Given the description of an element on the screen output the (x, y) to click on. 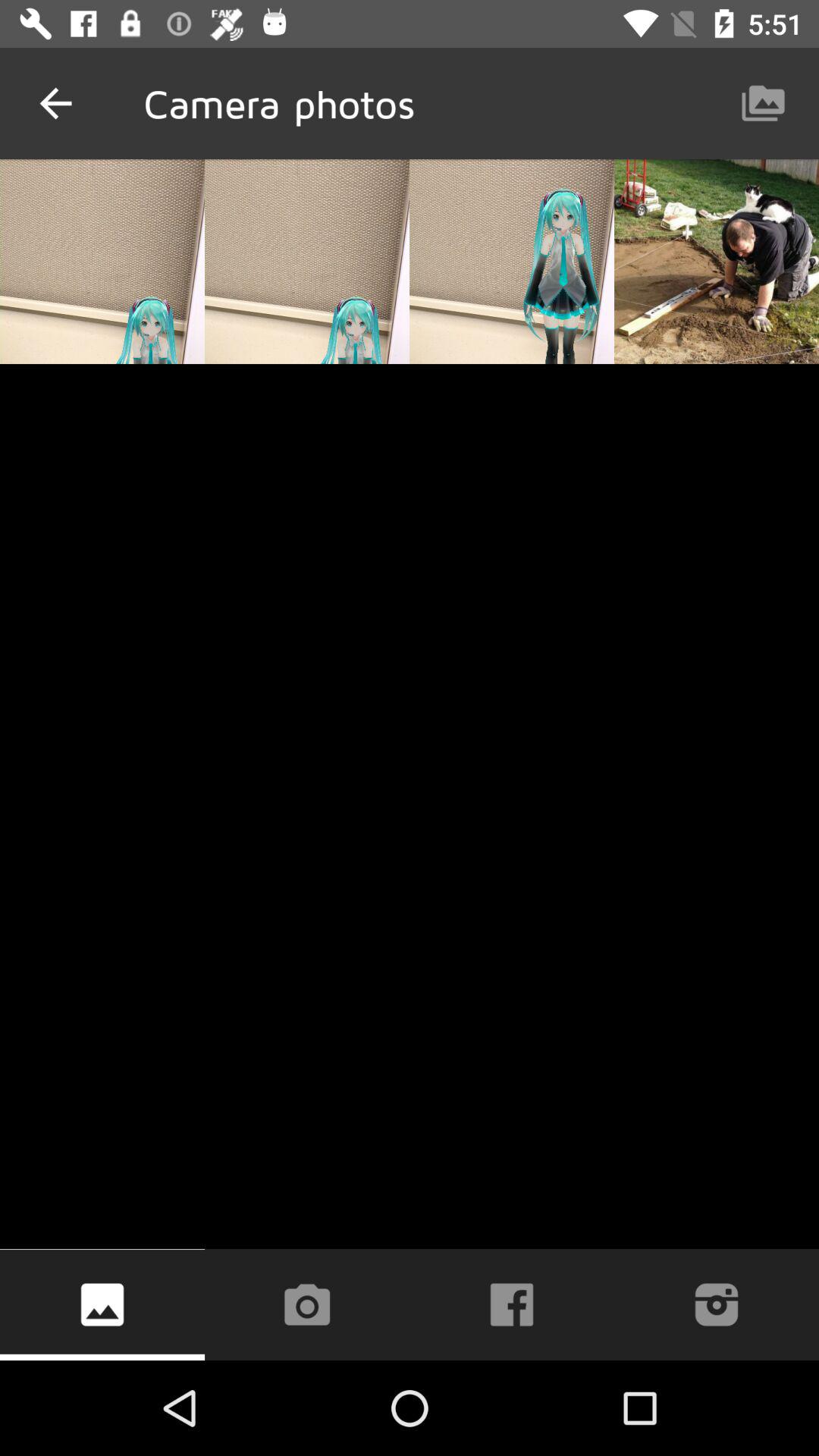
turn off item next to the camera photos (55, 103)
